Given the description of an element on the screen output the (x, y) to click on. 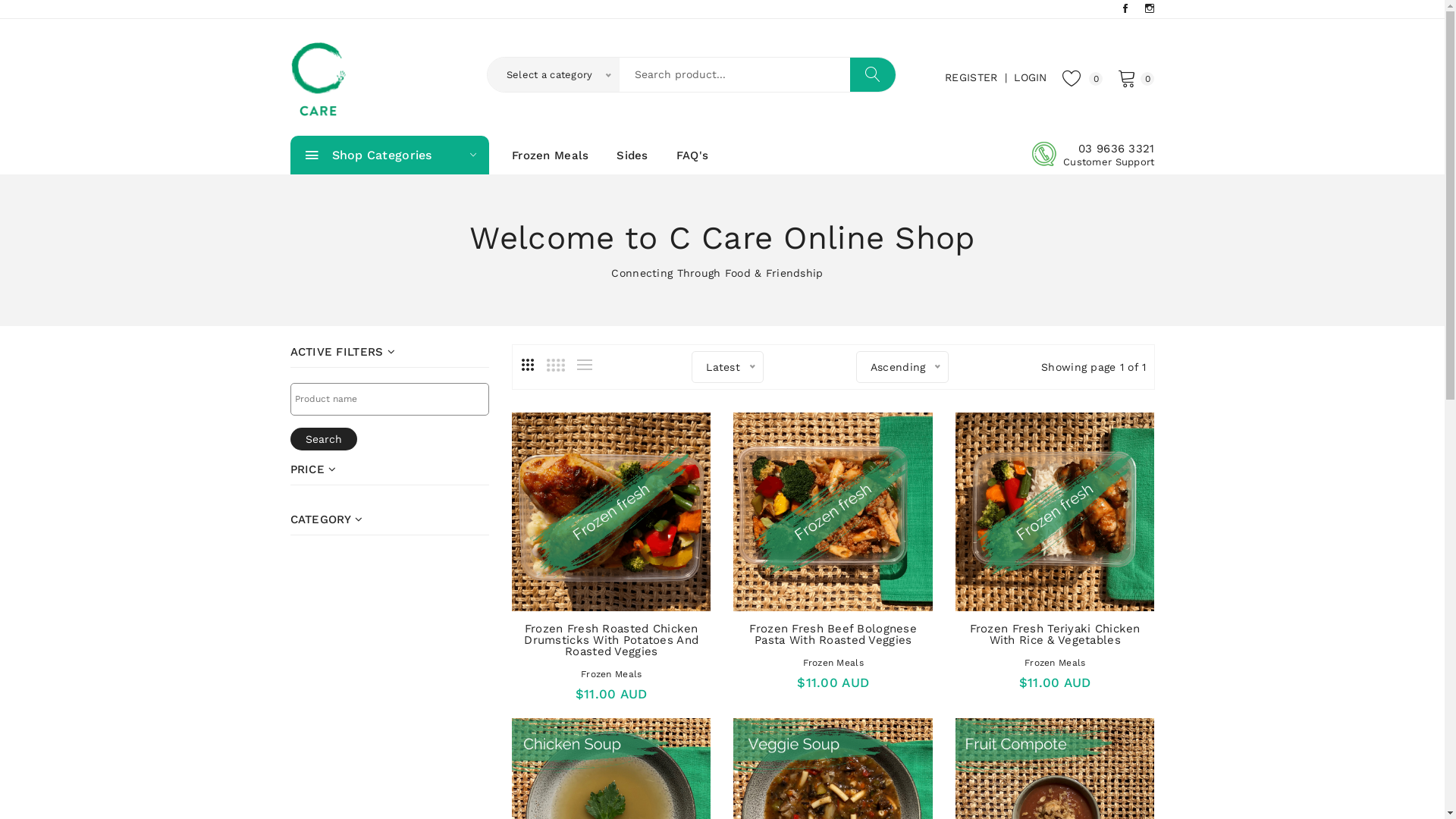
Search Element type: text (322, 438)
Frozen Meals Element type: text (1054, 662)
Frozen Fresh Beef Bolognese Pasta With Roasted Veggies Element type: text (832, 633)
3 Element type: hover (527, 364)
Frozen Meals Element type: text (549, 155)
List Element type: hover (584, 364)
0 Element type: text (1082, 81)
Frozen Meals Element type: text (833, 662)
FAQ'S Element type: text (692, 155)
LOGIN Element type: text (1029, 77)
4 Element type: hover (555, 364)
Frozen Fresh Teriyaki Chicken With Rice & Vegetables Element type: text (1054, 633)
0 Element type: text (1135, 81)
Sides Element type: text (631, 155)
Frozen Meals Element type: text (610, 673)
03 9636 3321 Element type: text (1108, 147)
REGISTER Element type: text (970, 77)
